Given the description of an element on the screen output the (x, y) to click on. 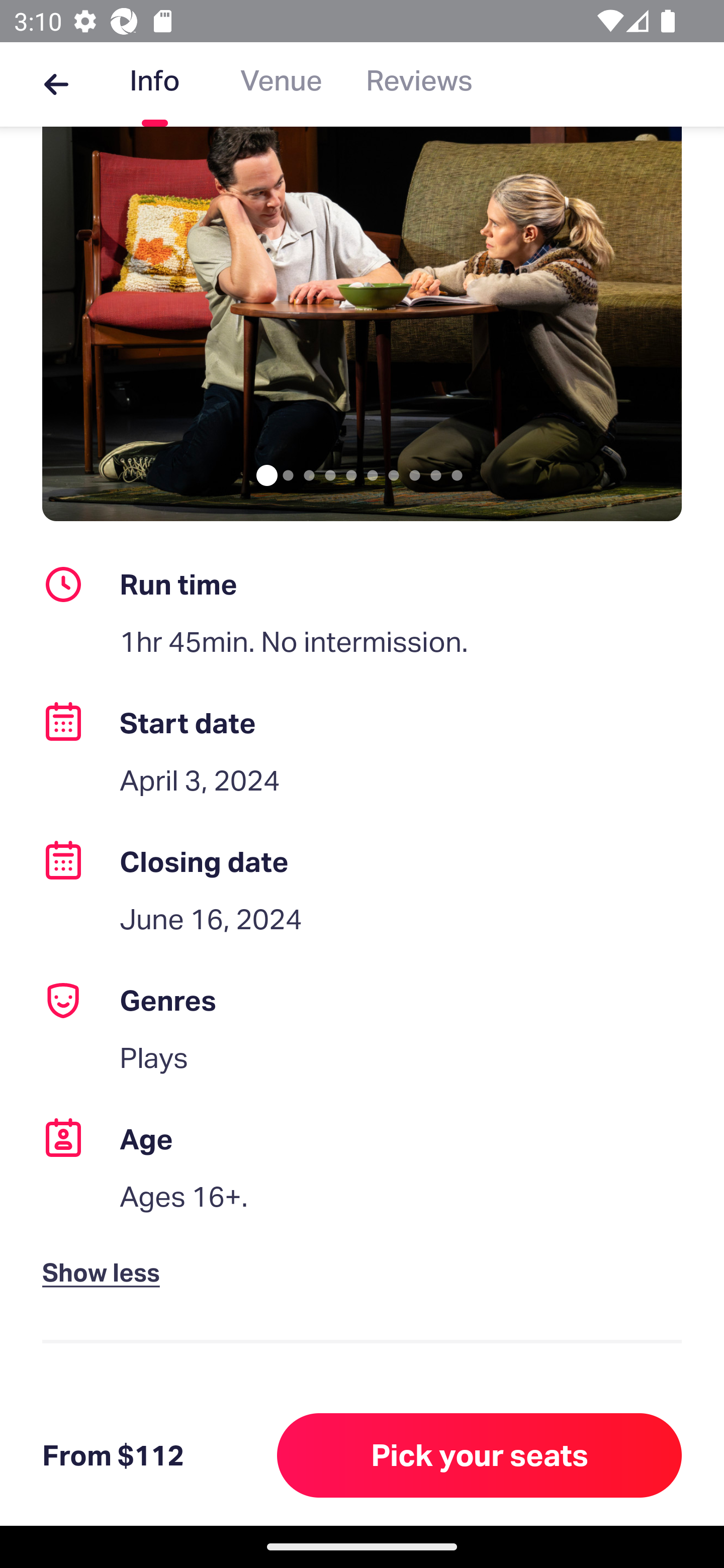
Venue (280, 84)
Reviews (419, 84)
Show less (104, 1256)
Pick your seats (479, 1454)
